Given the description of an element on the screen output the (x, y) to click on. 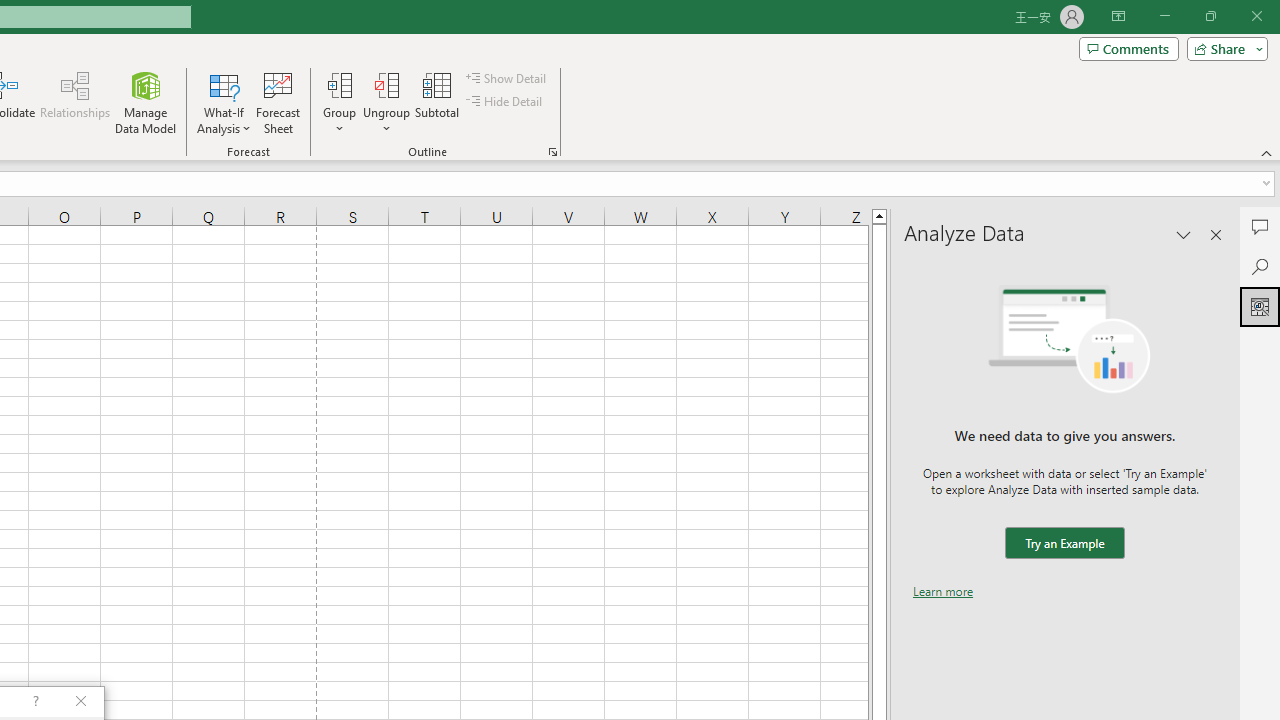
Relationships (75, 102)
We need data to give you answers. Try an Example (1064, 543)
Task Pane Options (1183, 234)
Analyze Data (1260, 306)
Hide Detail (505, 101)
Manage Data Model (145, 102)
